Given the description of an element on the screen output the (x, y) to click on. 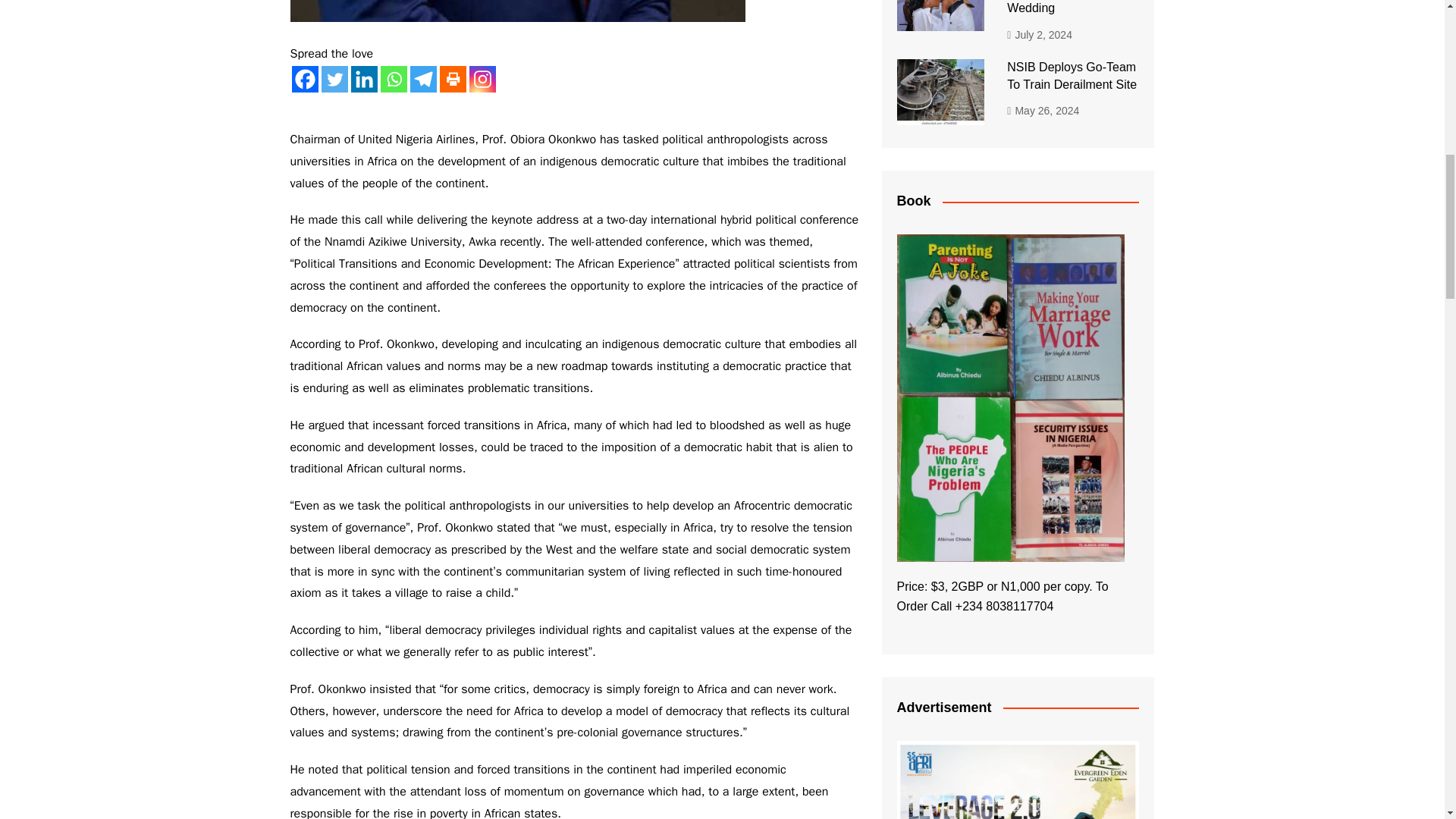
Facebook (304, 79)
Whatsapp (393, 79)
Linkedin (363, 79)
Print (452, 79)
Instagram (481, 79)
Twitter (334, 79)
Telegram (422, 79)
